Given the description of an element on the screen output the (x, y) to click on. 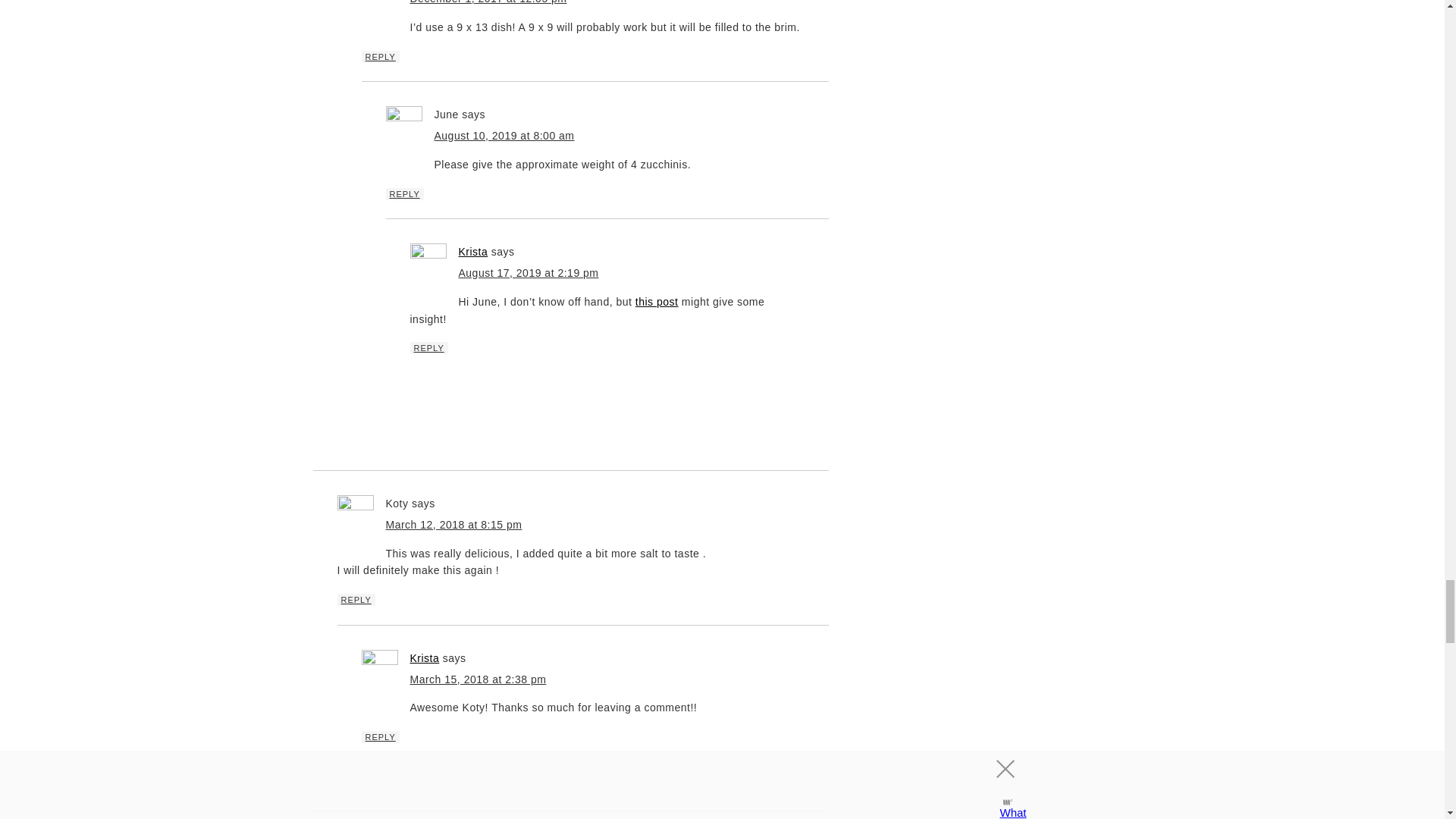
December 1, 2017 at 12:05 pm (487, 2)
REPLY (379, 56)
